Given the description of an element on the screen output the (x, y) to click on. 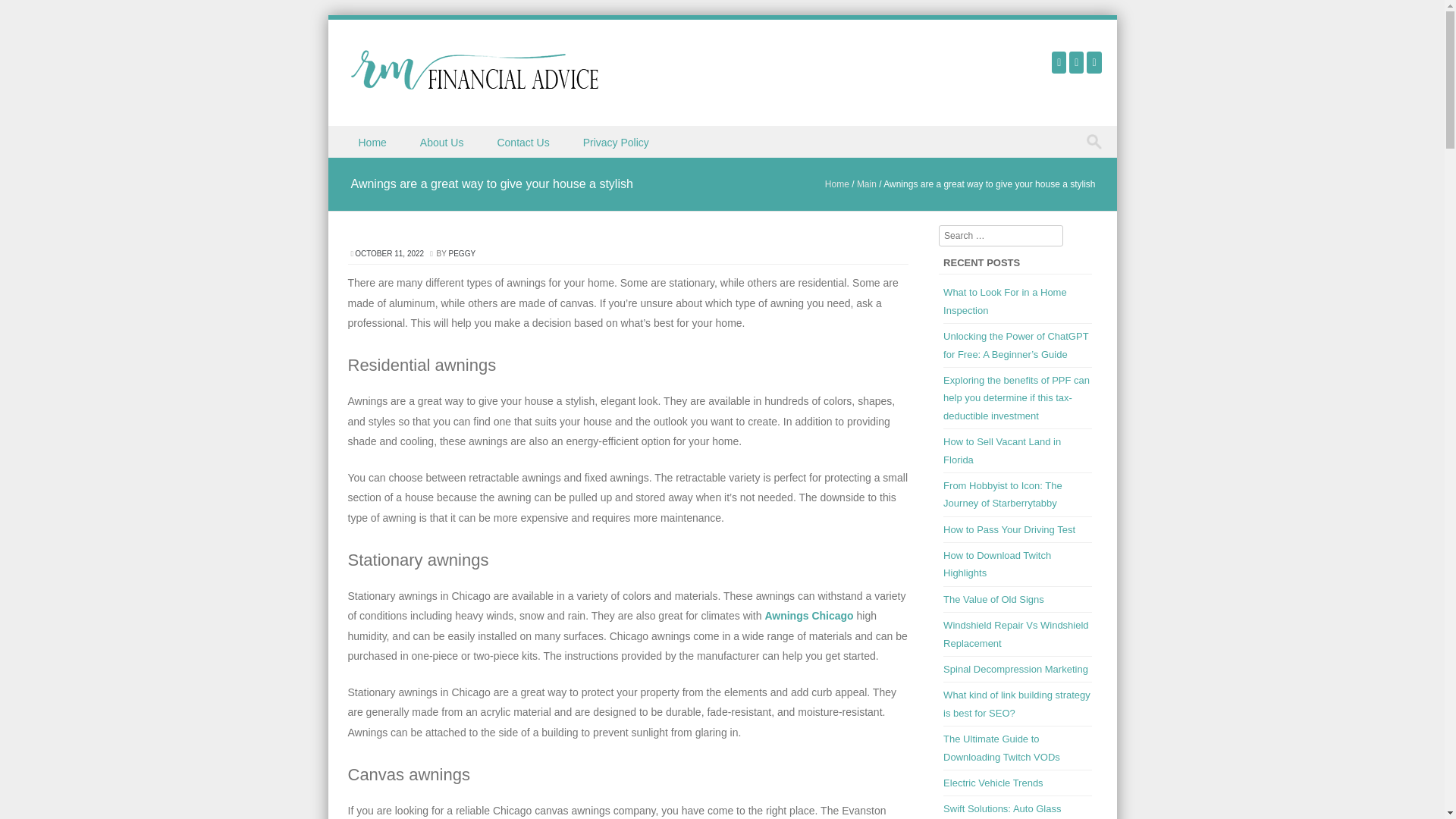
Awnings Chicago (808, 615)
Skip to content (362, 135)
Skip to content (362, 135)
The Ultimate Guide to Downloading Twitch VODs (1001, 747)
Home (373, 142)
What to Look For in a Home Inspection (1005, 300)
Search for: (1097, 141)
How to Sell Vacant Land in Florida (1002, 450)
Swift Solutions: Auto Glass Replacement Experts (1002, 811)
What kind of link building strategy is best for SEO? (1016, 703)
